Given the description of an element on the screen output the (x, y) to click on. 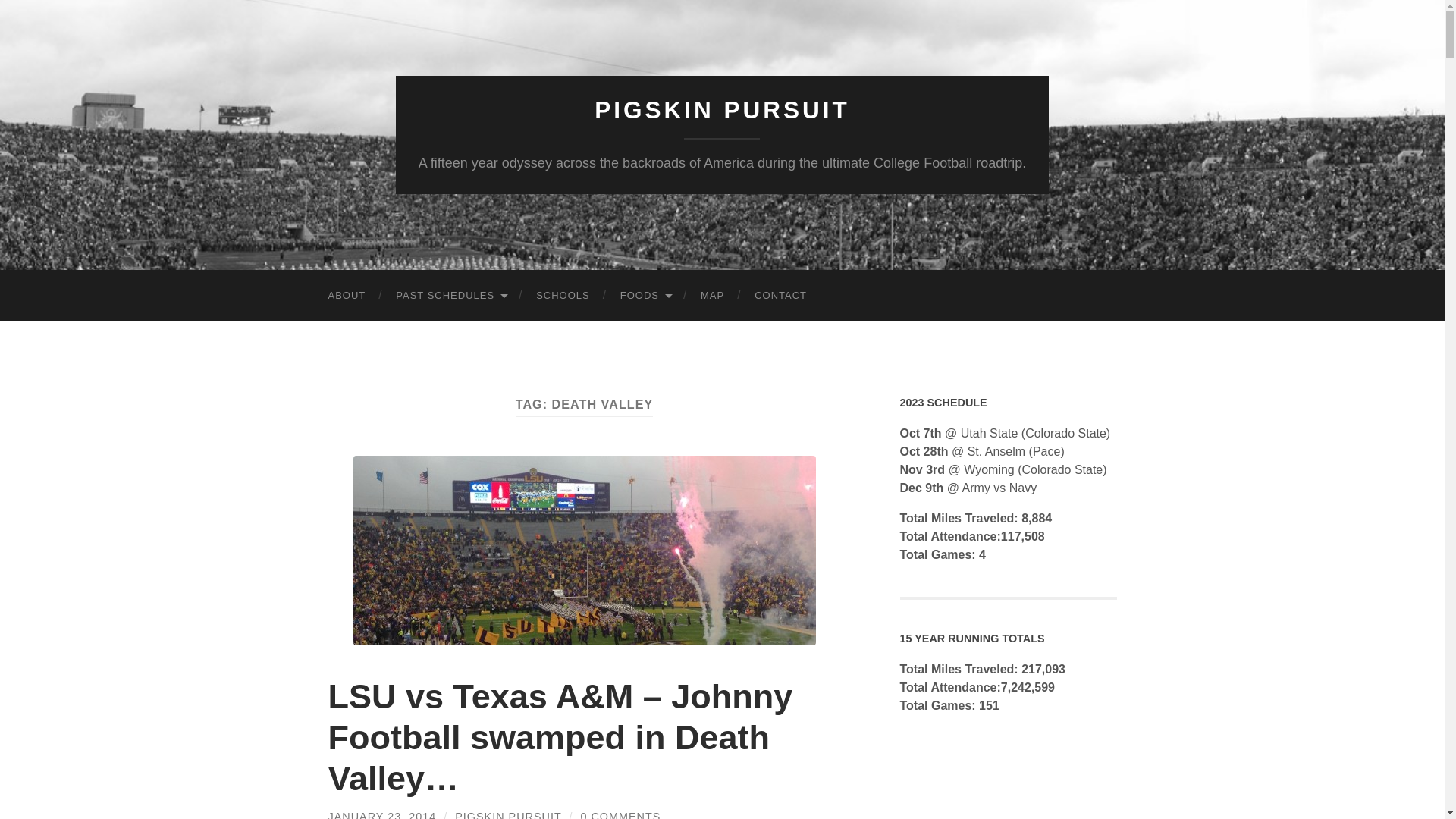
CONTACT (780, 295)
Posts by Pigskin Pursuit (507, 814)
ABOUT (346, 295)
SCHOOLS (563, 295)
PIGSKIN PURSUIT (722, 109)
PAST SCHEDULES (450, 295)
MAP (712, 295)
FOODS (645, 295)
